Given the description of an element on the screen output the (x, y) to click on. 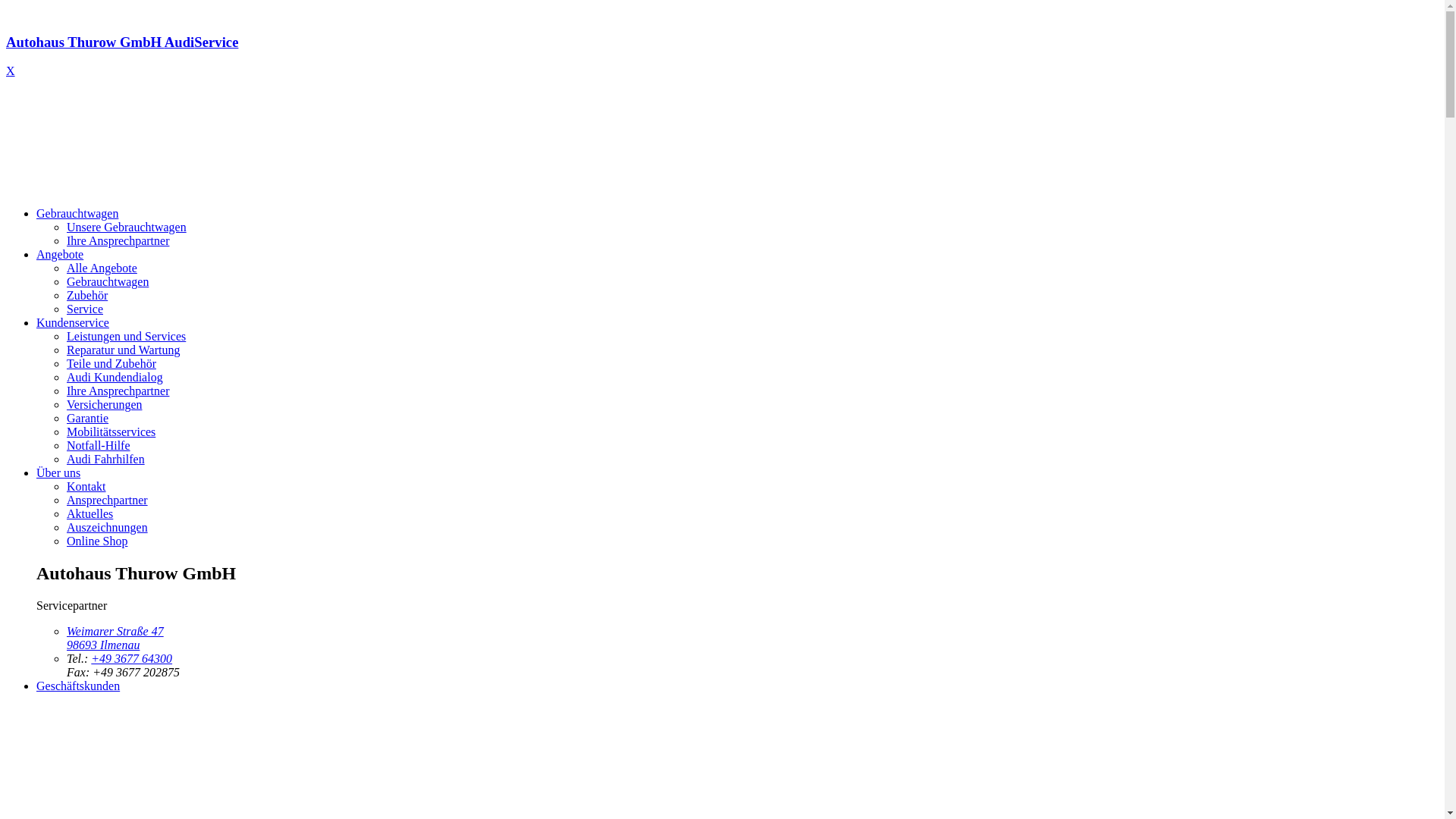
Audi Kundendialog Element type: text (114, 376)
Garantie Element type: text (87, 417)
Ihre Ansprechpartner Element type: text (117, 240)
Auszeichnungen Element type: text (106, 526)
Service Element type: text (84, 308)
Kontakt Element type: text (86, 486)
Gebrauchtwagen Element type: text (77, 213)
Gebrauchtwagen Element type: text (107, 281)
Unsere Gebrauchtwagen Element type: text (126, 226)
Ihre Ansprechpartner Element type: text (117, 390)
Online Shop Element type: text (96, 540)
Notfall-Hilfe Element type: text (98, 445)
X Element type: text (10, 70)
Kundenservice Element type: text (72, 322)
+49 3677 64300 Element type: text (131, 658)
Alle Angebote Element type: text (101, 267)
Leistungen und Services Element type: text (125, 335)
Versicherungen Element type: text (104, 404)
Angebote Element type: text (59, 253)
Ansprechpartner Element type: text (106, 499)
Autohaus Thurow GmbH AudiService Element type: text (722, 56)
Audi Fahrhilfen Element type: text (105, 458)
Aktuelles Element type: text (89, 513)
Reparatur und Wartung Element type: text (122, 349)
